Given the description of an element on the screen output the (x, y) to click on. 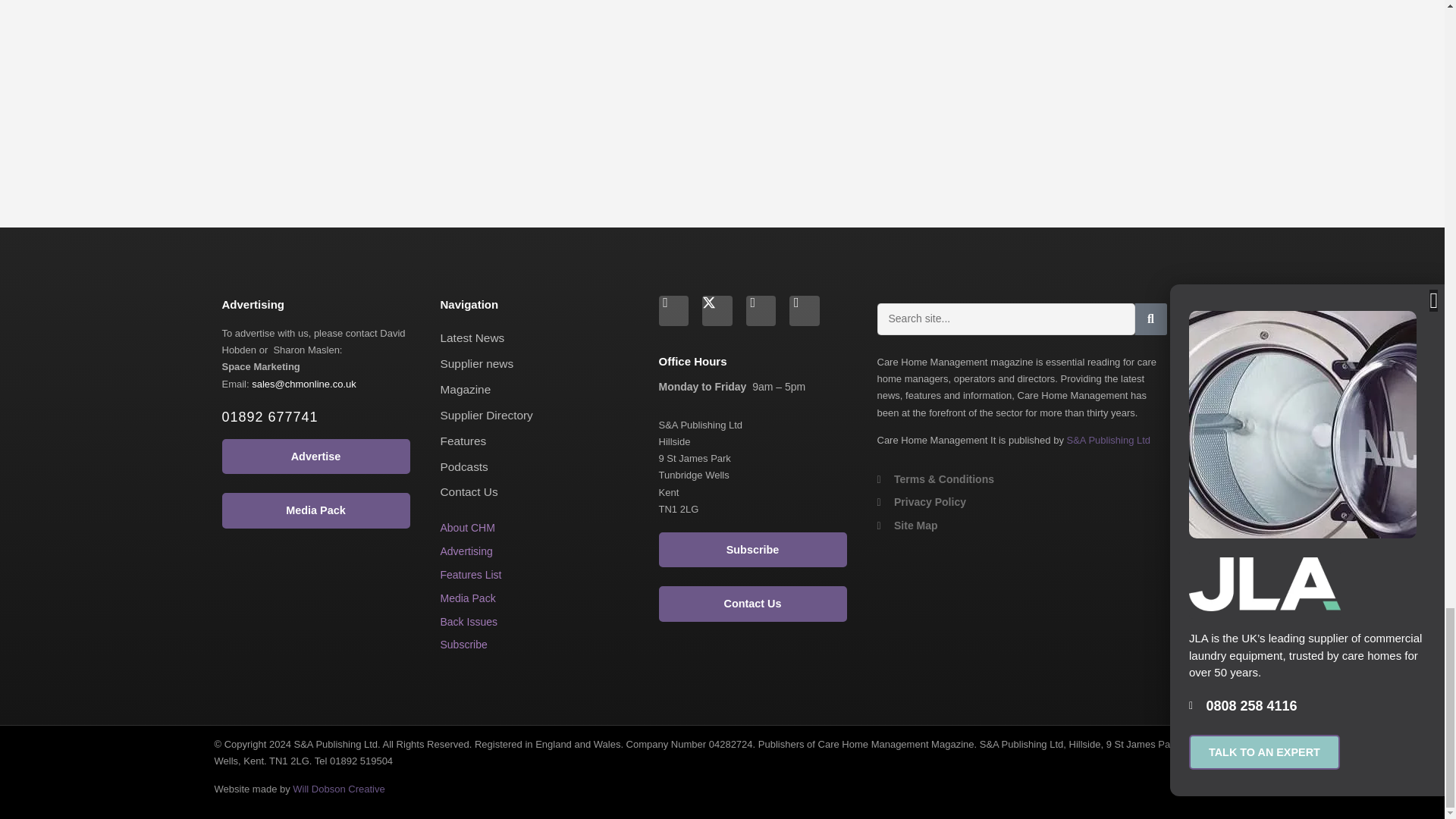
Media Pack (467, 598)
Website Design by Will Dobson Creative (338, 788)
Latest Supplier News (476, 363)
Advertising Opportunities (465, 551)
